Given the description of an element on the screen output the (x, y) to click on. 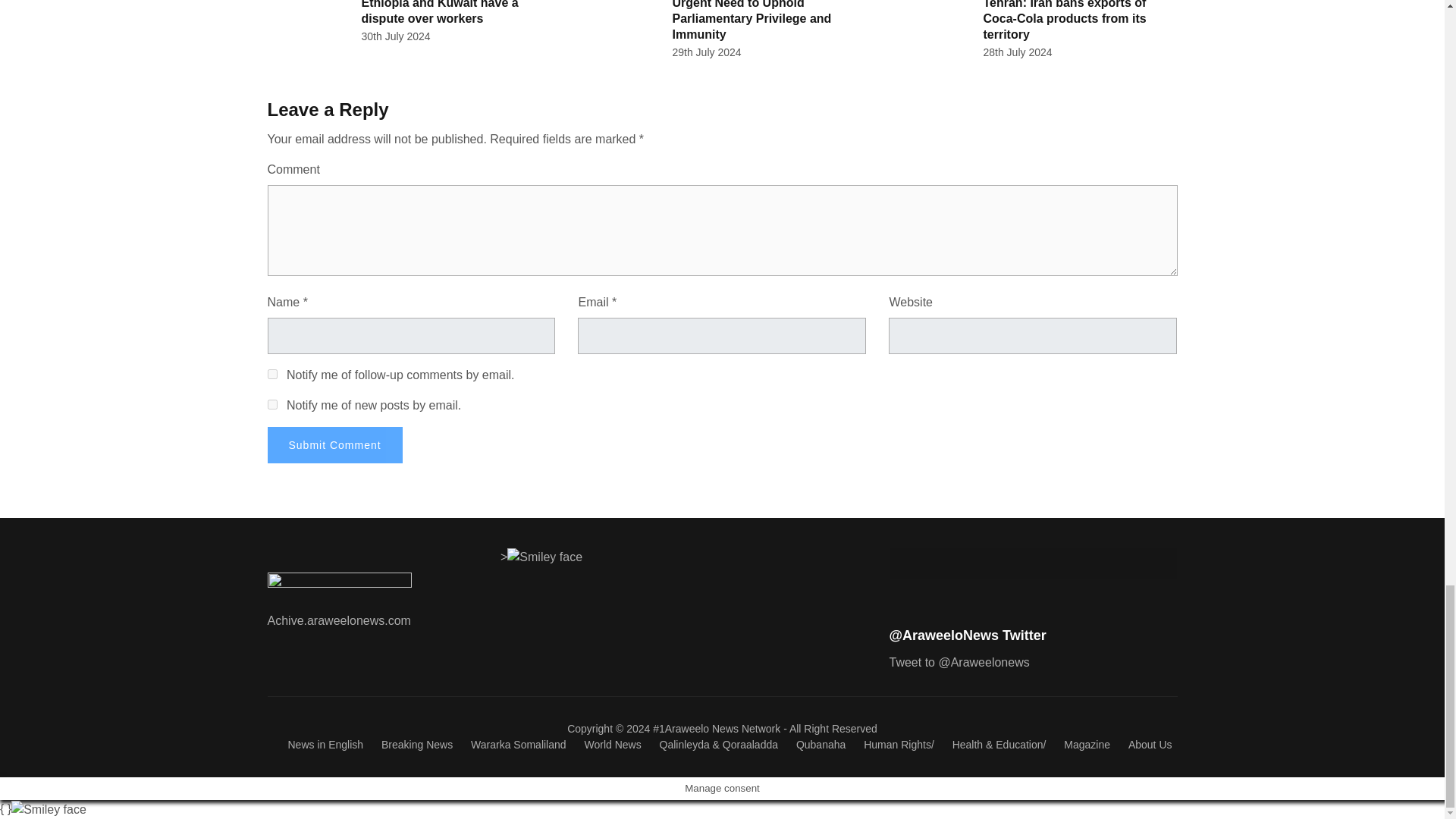
Wararka Somaliland (518, 744)
subscribe (271, 404)
Breaking News (416, 744)
subscribe (271, 374)
Submit Comment (333, 444)
